Given the description of an element on the screen output the (x, y) to click on. 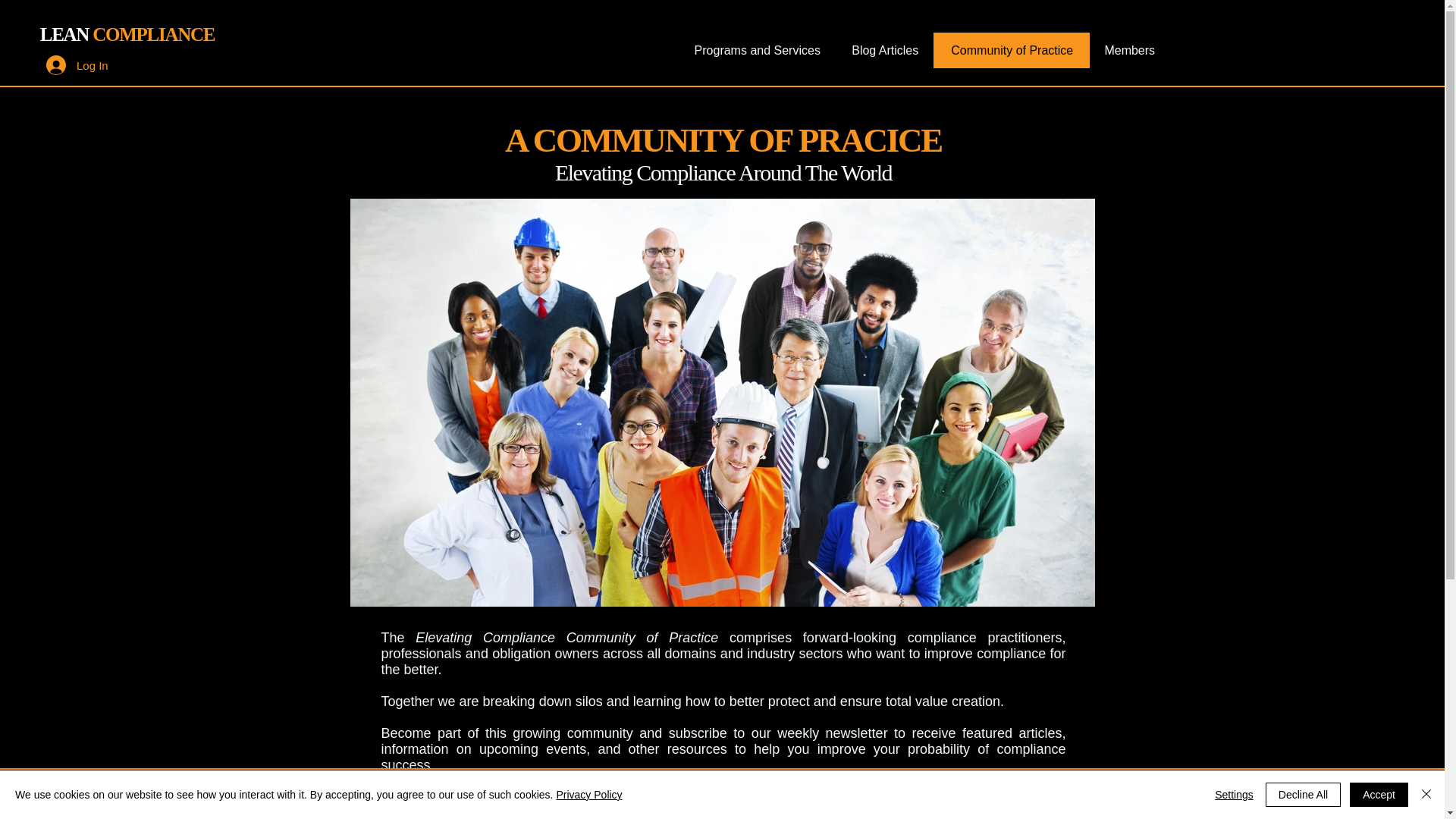
Members (1129, 49)
Blog Articles (884, 49)
Programs and Services (756, 49)
Log In (76, 64)
LEAN COMPLIANCE (127, 34)
Community of Practice (1011, 49)
